Given the description of an element on the screen output the (x, y) to click on. 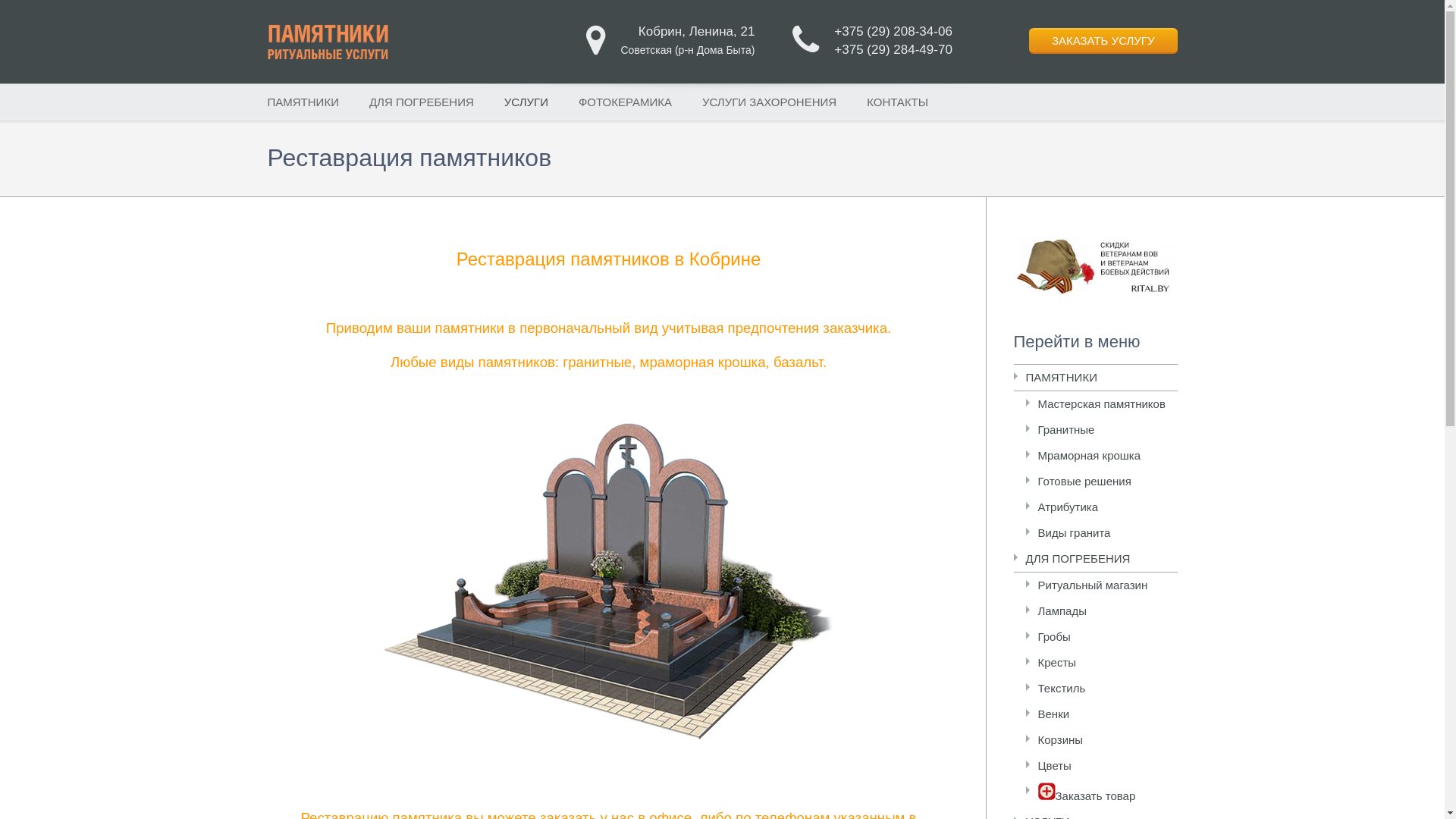
+375 (29) 284-49-70 Element type: text (892, 49)
+375 (29) 208-34-06 Element type: text (892, 31)
